Given the description of an element on the screen output the (x, y) to click on. 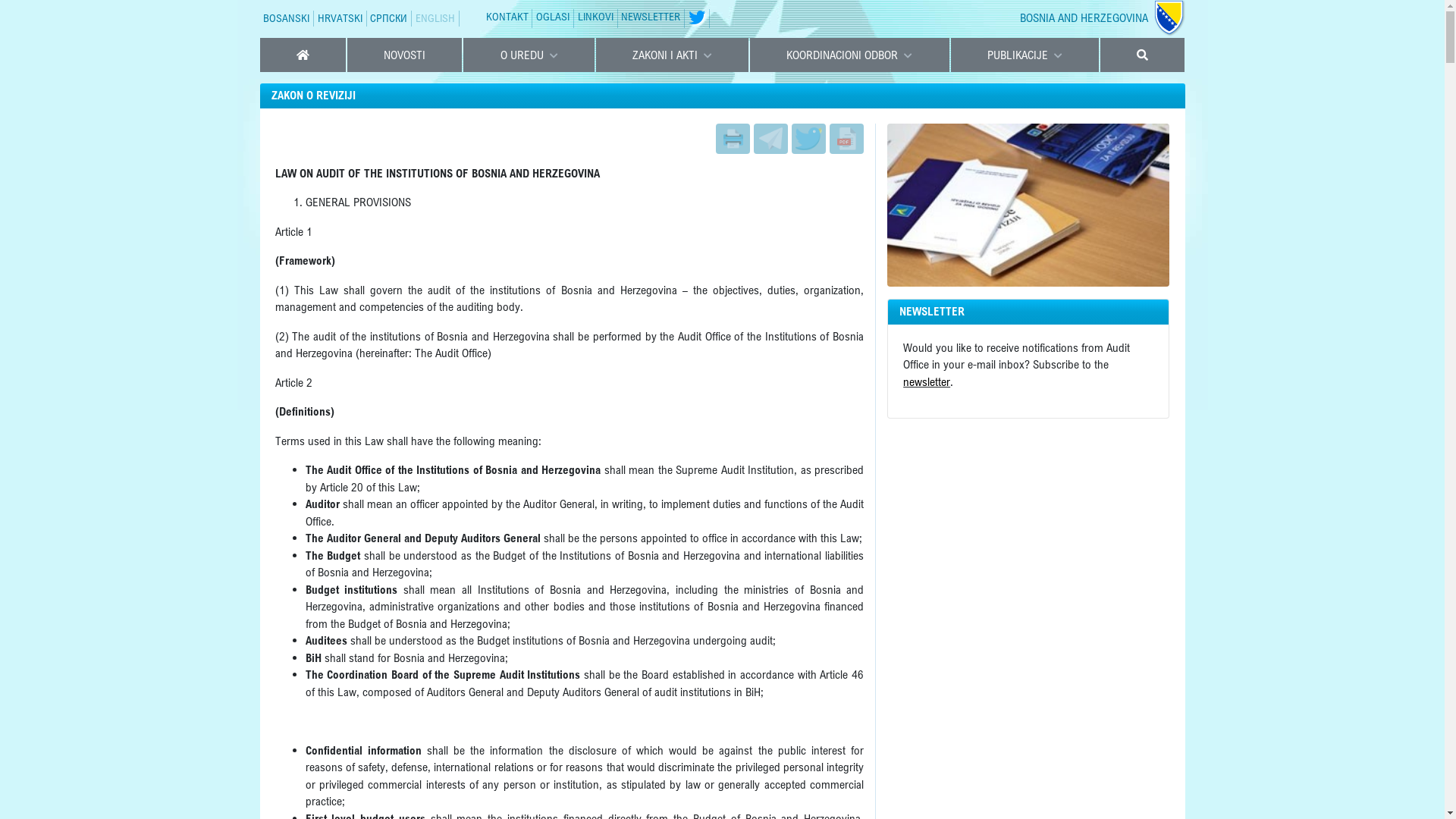
BOSANSKI Element type: text (286, 18)
KOORDINACIONI ODBOR  Element type: text (848, 54)
OGLASI Element type: text (552, 17)
O UREDU  Element type: text (528, 54)
Twitter Element type: hover (808, 137)
PUBLIKACIJE  Element type: text (1024, 54)
Print Element type: hover (732, 137)
NOVOSTI Element type: text (404, 54)
PDF Element type: hover (846, 137)
Email Element type: hover (770, 137)
KONTAKT Element type: text (507, 17)
NEWSLETTER Element type: text (651, 17)
newsletter Element type: text (926, 381)
LINKOVI Element type: text (595, 17)
ZAKONI I AKTI  Element type: text (672, 54)
HRVATSKI Element type: text (339, 18)
ENGLISH Element type: text (434, 18)
